Given the description of an element on the screen output the (x, y) to click on. 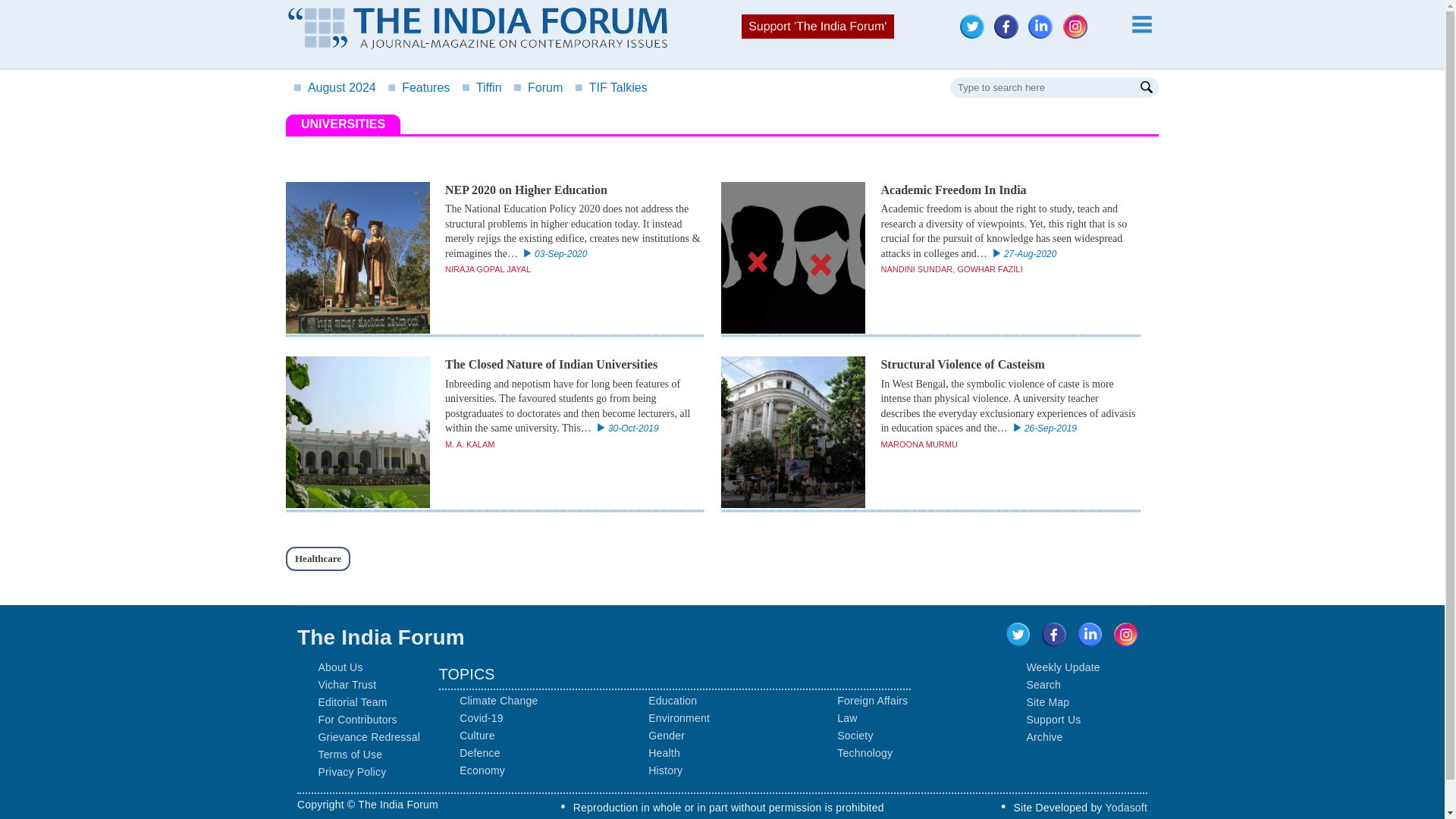
The India Forum (477, 28)
Twitter (971, 26)
Facebook (1010, 35)
Skip to main content (721, 1)
Linkedin (1043, 35)
Menu (1141, 23)
Twitter (975, 35)
Instagram (1074, 26)
Linkedin (1039, 26)
Instagram (1078, 35)
Facebook (1005, 26)
Home (477, 30)
